Given the description of an element on the screen output the (x, y) to click on. 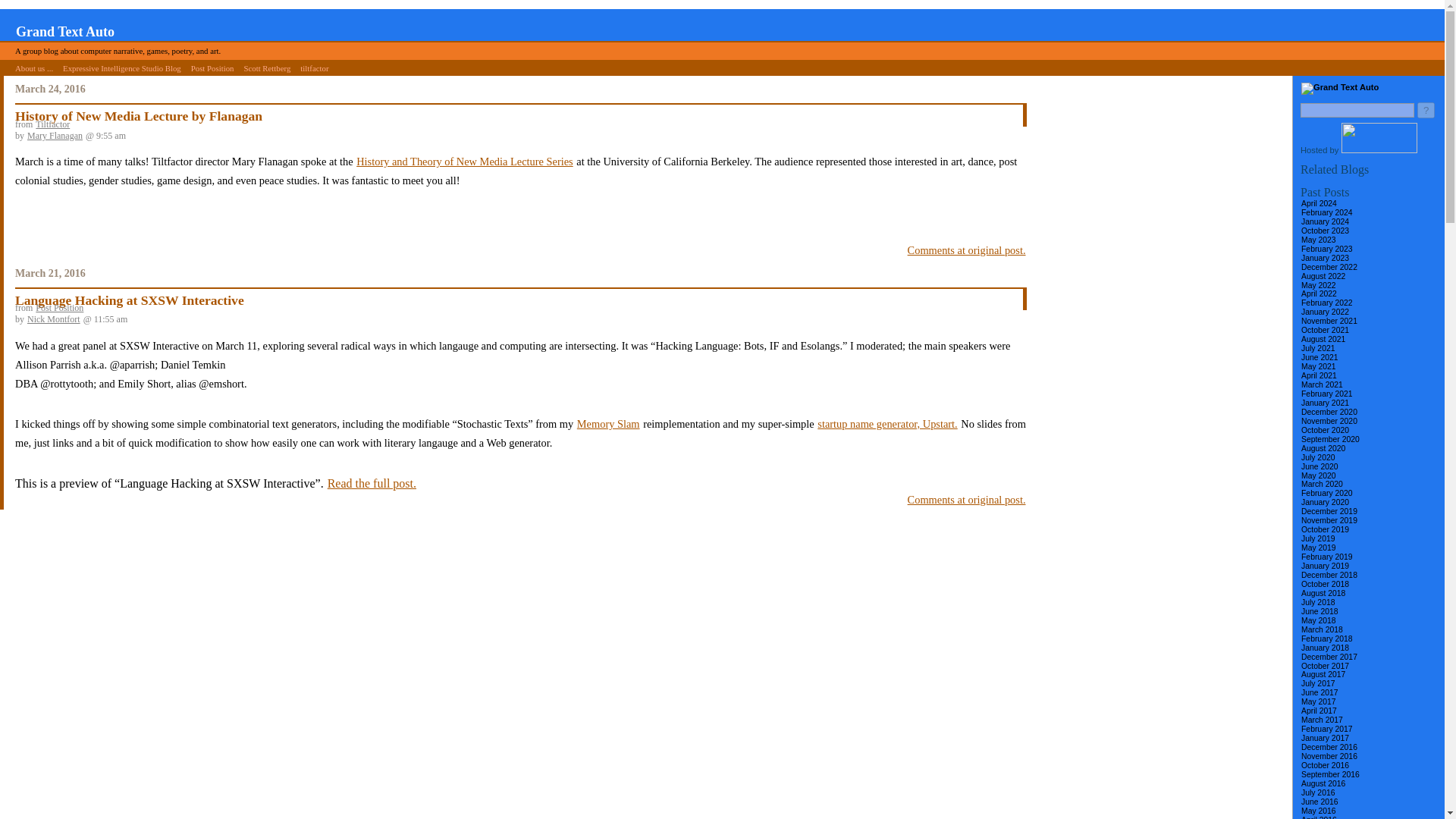
February 2022 (1327, 302)
January 2023 (1324, 257)
tiltfactor (314, 67)
Expressive Intelligence Studio Blog (121, 67)
May 2021 (1318, 366)
January 2022 (1324, 311)
April 2024 (1319, 203)
July 2021 (1317, 347)
June 2020 (1319, 466)
November 2021 (1329, 320)
Grand Text Auto (64, 31)
December 2020 (1329, 411)
January 2021 (1324, 402)
February 2021 (1327, 393)
December 2022 (1329, 266)
